Given the description of an element on the screen output the (x, y) to click on. 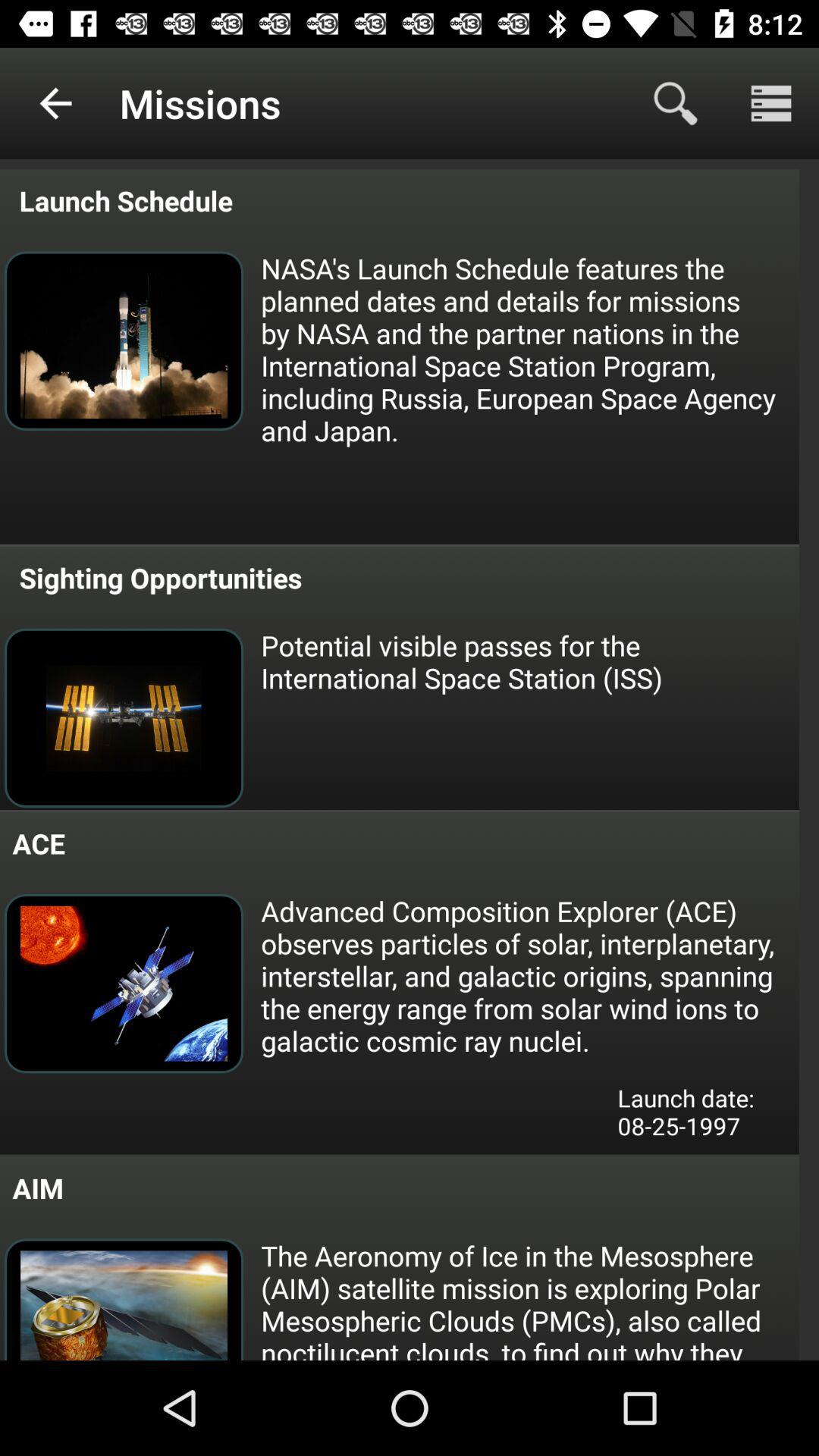
turn on the icon next to missions (675, 103)
